Given the description of an element on the screen output the (x, y) to click on. 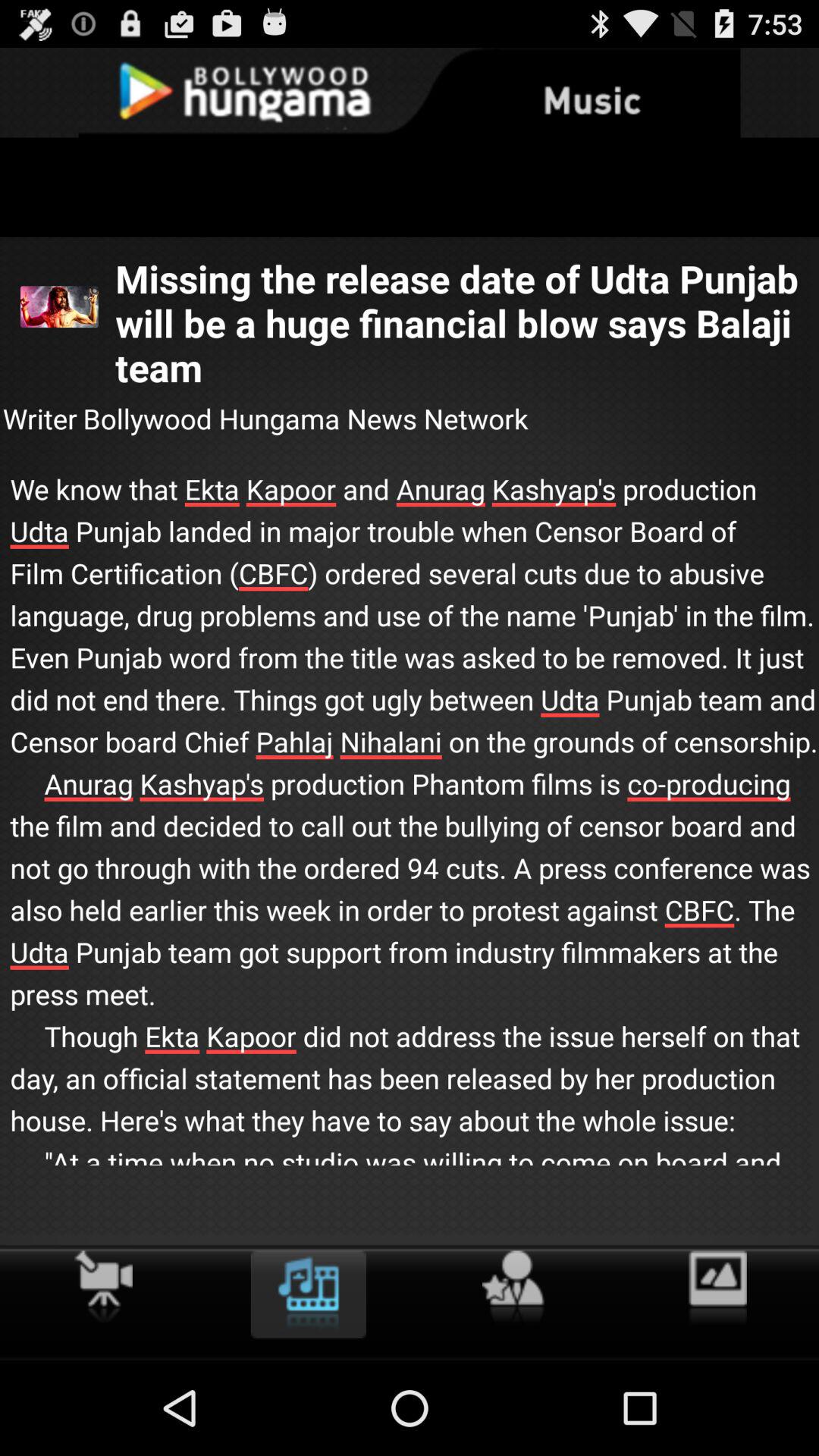
turn on the item below the we know that item (103, 1286)
